Given the description of an element on the screen output the (x, y) to click on. 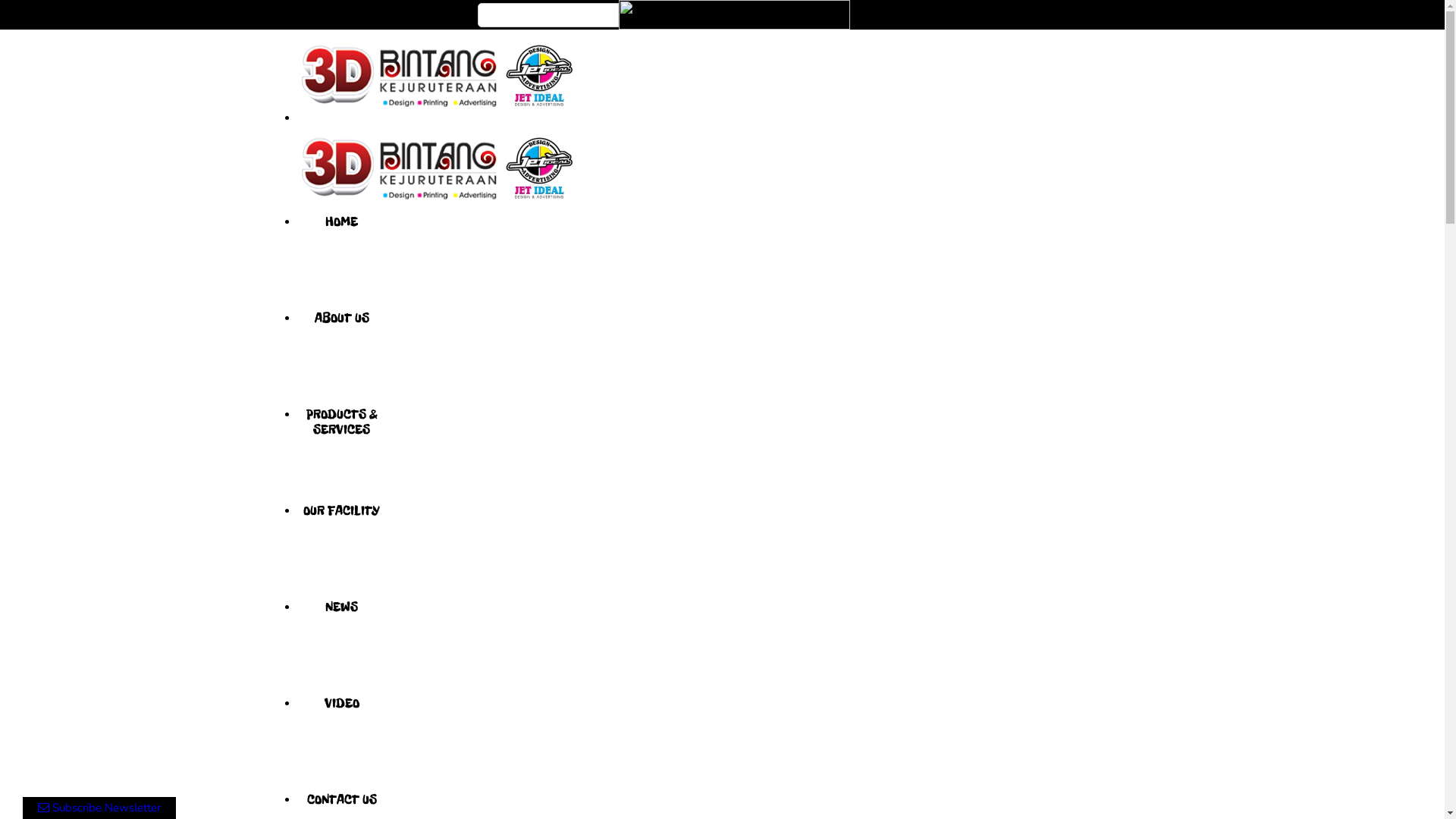
OUR FACILITY Element type: text (341, 551)
VIDEO Element type: text (341, 744)
ABOUT US Element type: text (341, 358)
PRODUCTS &
SERVICES Element type: text (341, 455)
NEWS Element type: text (341, 647)
HOME Element type: text (341, 262)
